Given the description of an element on the screen output the (x, y) to click on. 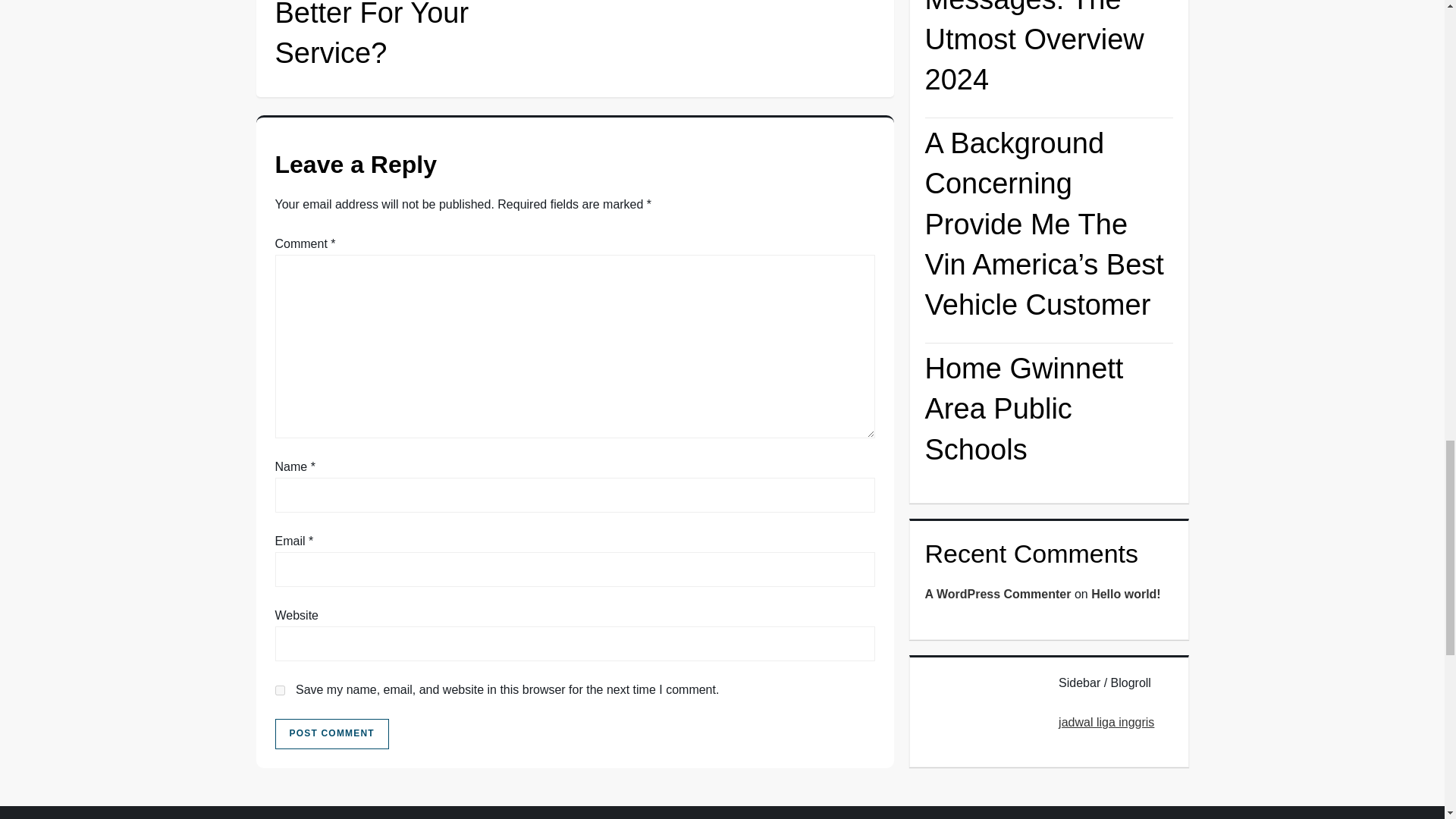
Post Comment (331, 734)
Post Comment (331, 734)
yes (279, 690)
